Given the description of an element on the screen output the (x, y) to click on. 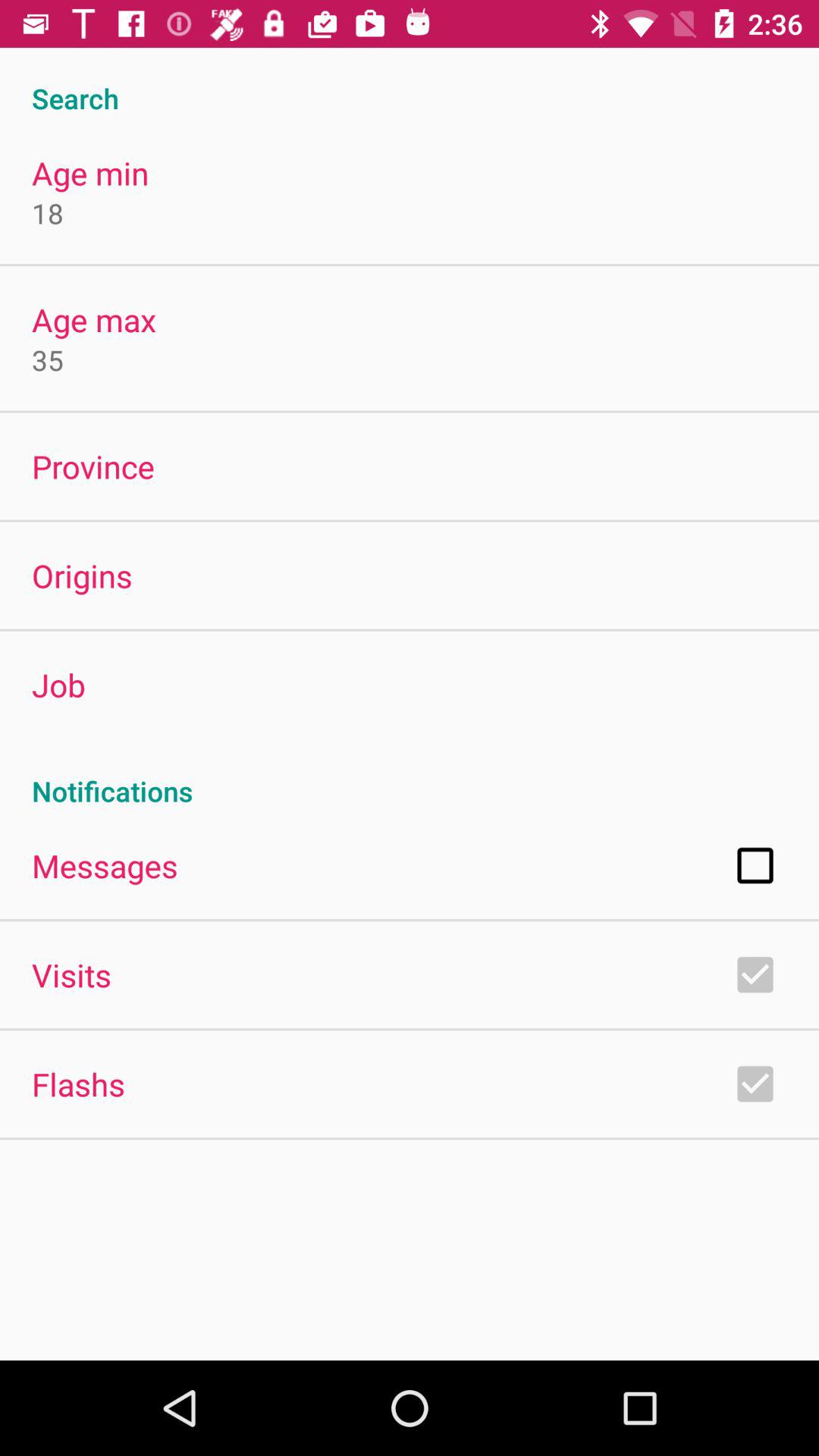
select the visits item (71, 974)
